Given the description of an element on the screen output the (x, y) to click on. 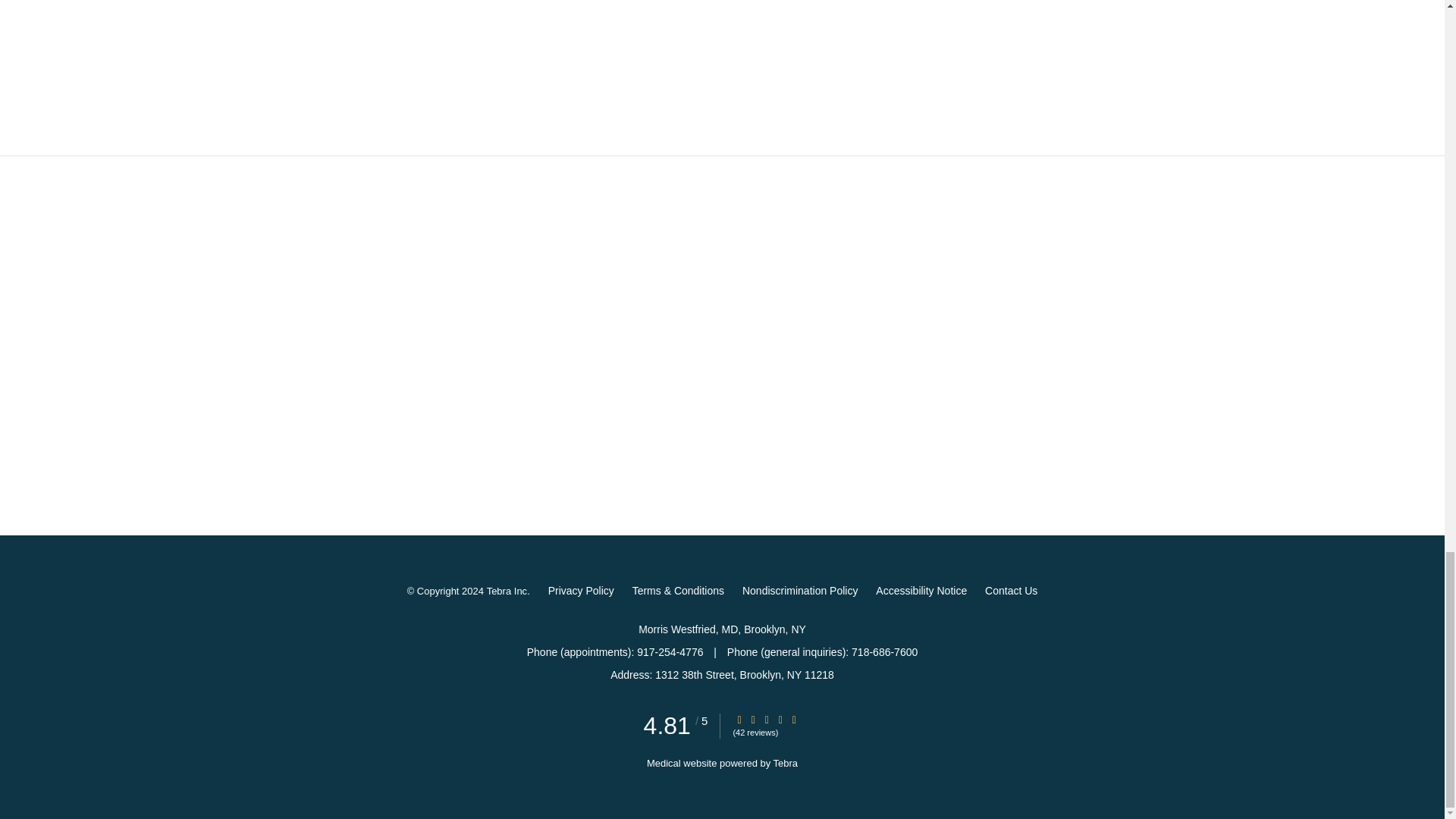
Privacy Policy (581, 590)
Star Rating (766, 719)
Star Rating (794, 719)
Nondiscrimination Policy (800, 590)
Contact Us (1010, 590)
Tebra Inc (506, 590)
Tebra (785, 763)
Star Rating (738, 719)
Accessibility Notice (921, 590)
Star Rating (753, 719)
